Given the description of an element on the screen output the (x, y) to click on. 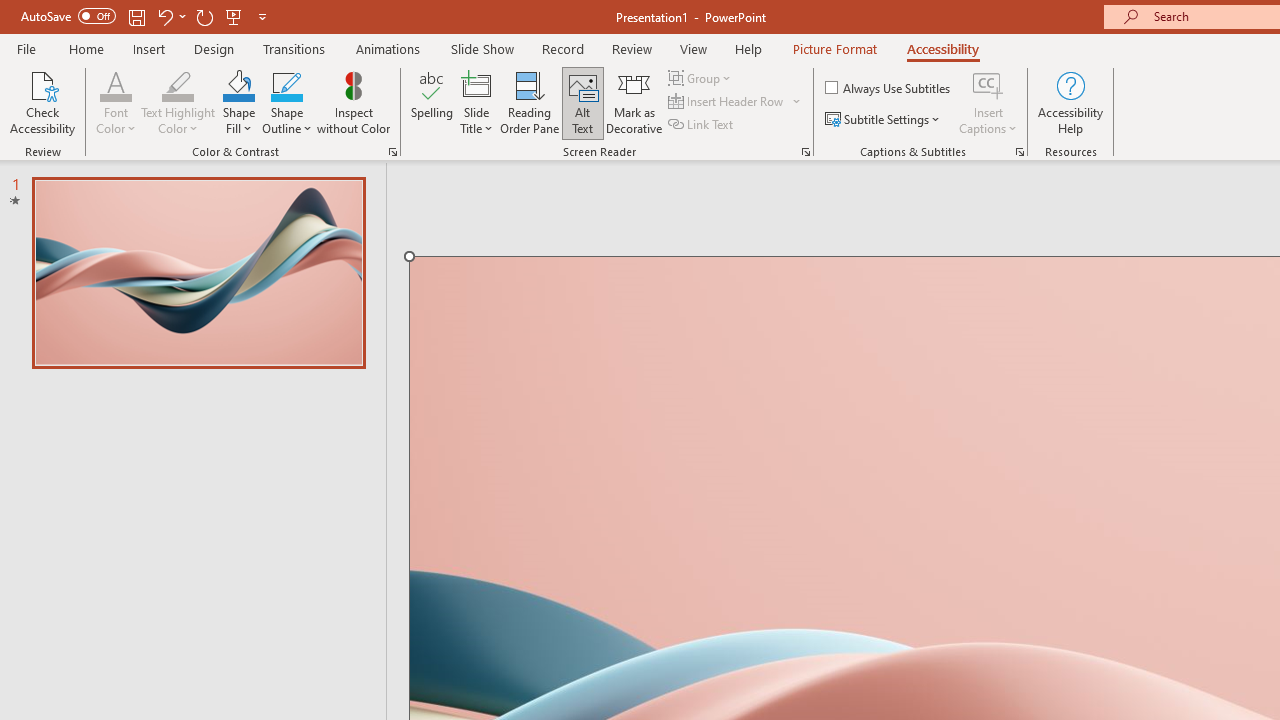
Always Use Subtitles (889, 87)
Accessibility Help (1070, 102)
Mark as Decorative (634, 102)
Link Text (702, 124)
